Given the description of an element on the screen output the (x, y) to click on. 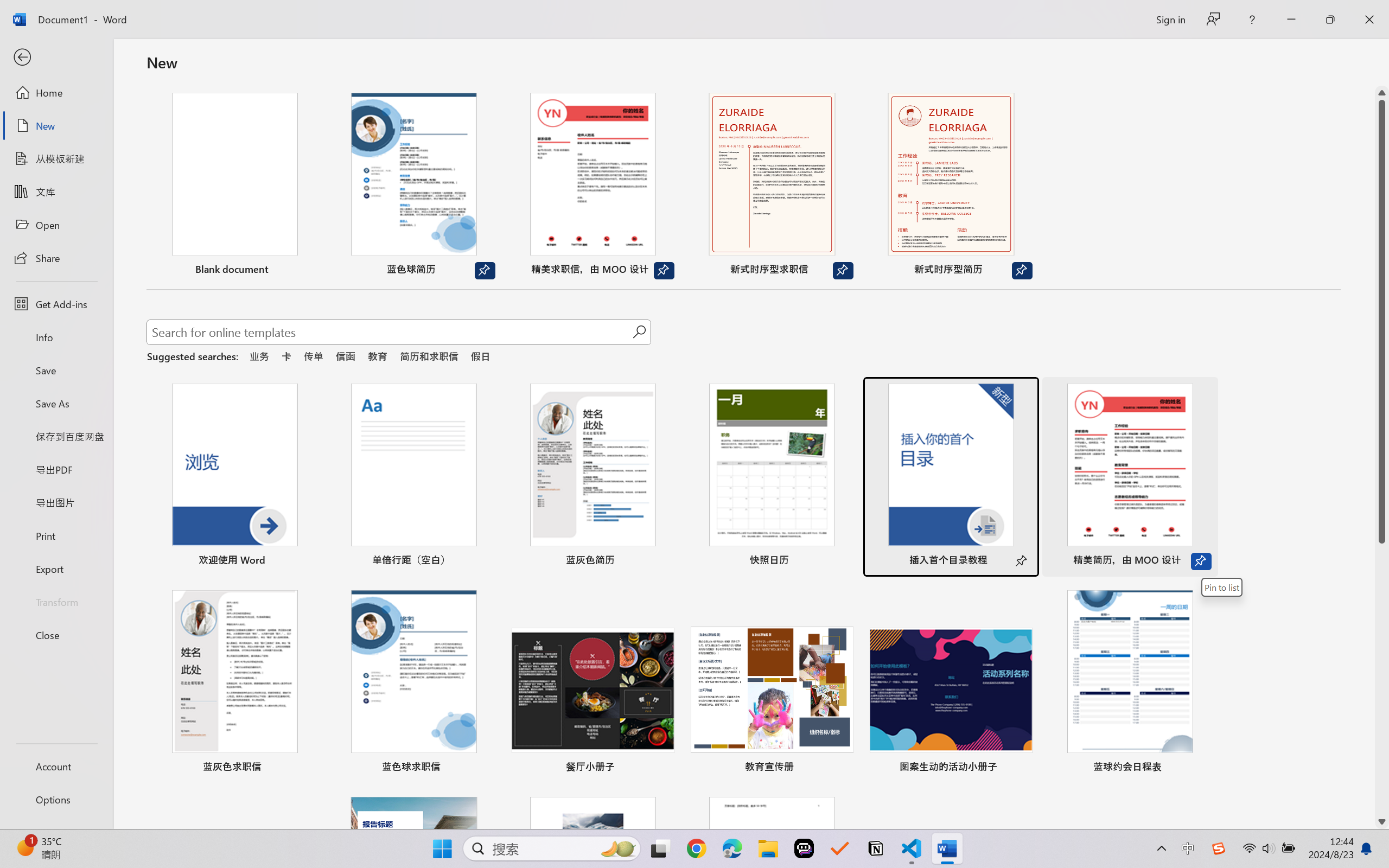
Export (56, 568)
Line down (1382, 821)
Back (56, 57)
Line up (1382, 92)
Unpin from list (1022, 270)
